Given the description of an element on the screen output the (x, y) to click on. 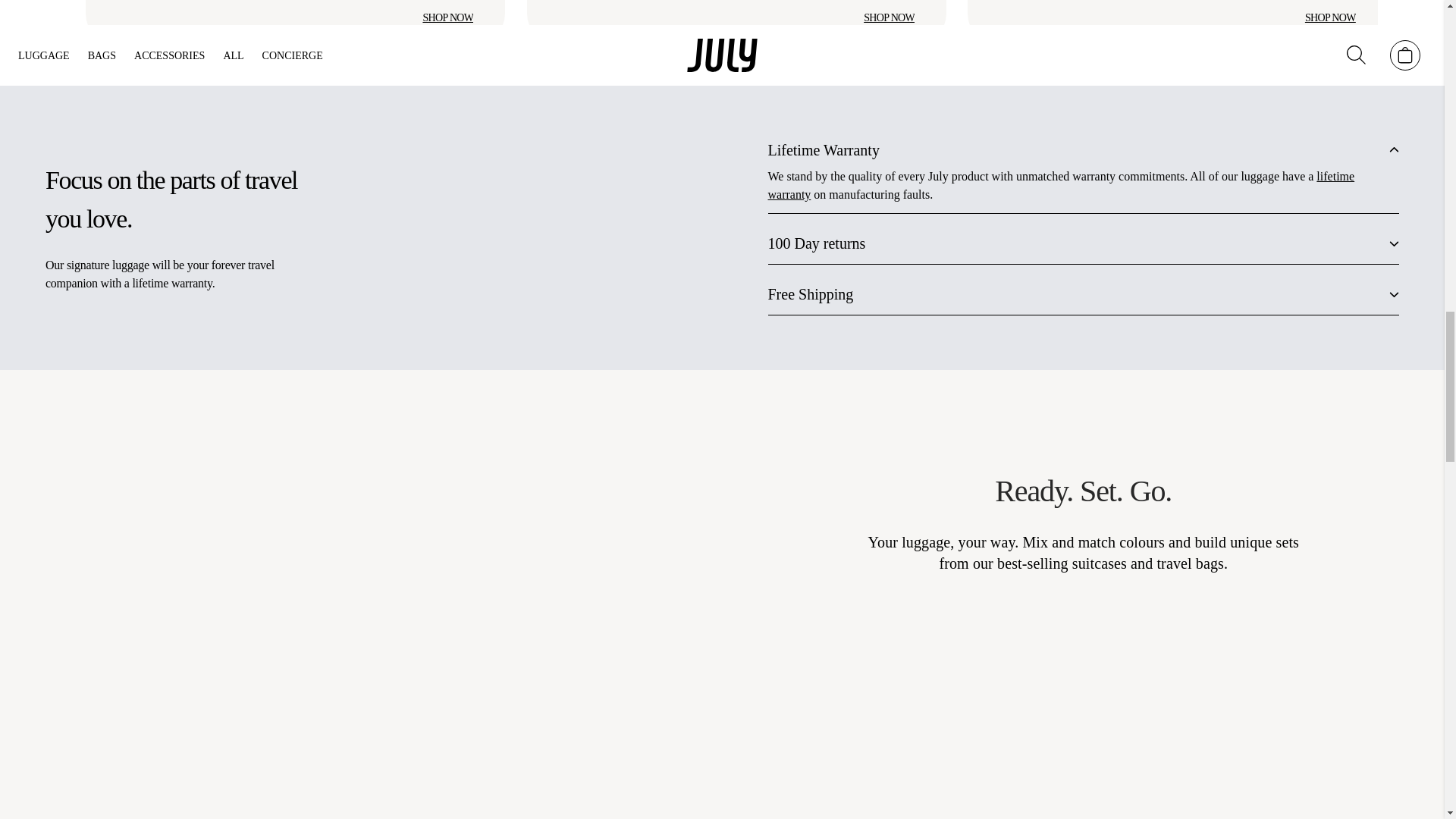
SHOP SETS (973, 721)
lifetime warranty (1060, 184)
SHOP LUGGAGE (1192, 721)
SHOP NOW (888, 17)
SHOP NOW (1329, 17)
SHOP NOW (447, 17)
